Given the description of an element on the screen output the (x, y) to click on. 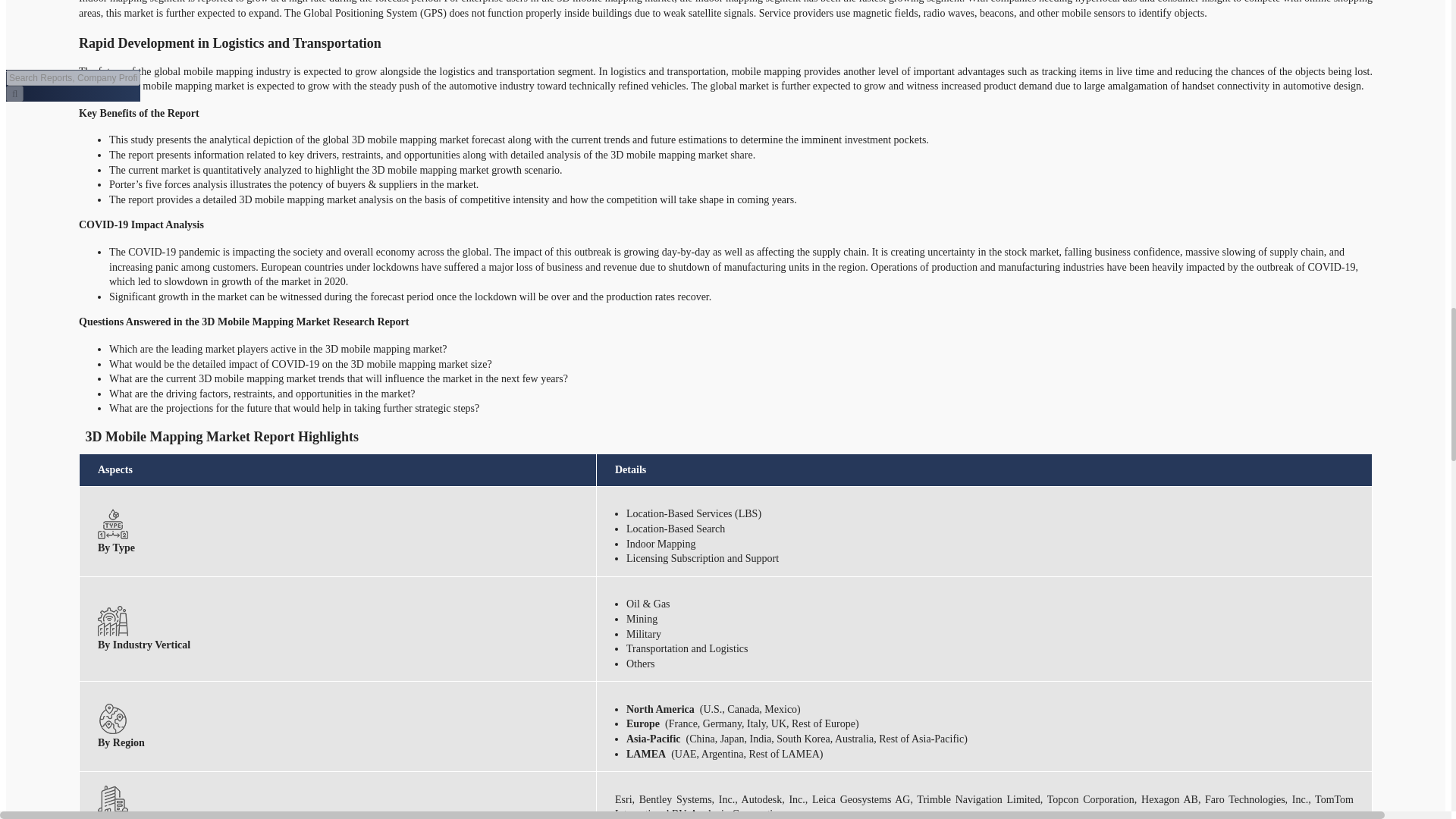
Key Market Players (112, 799)
3D Mobile Mapping Market By Type (112, 523)
3D Mobile Mapping Market By Industry Vertical (112, 621)
3D Mobile Mapping Market By Region (112, 718)
